Given the description of an element on the screen output the (x, y) to click on. 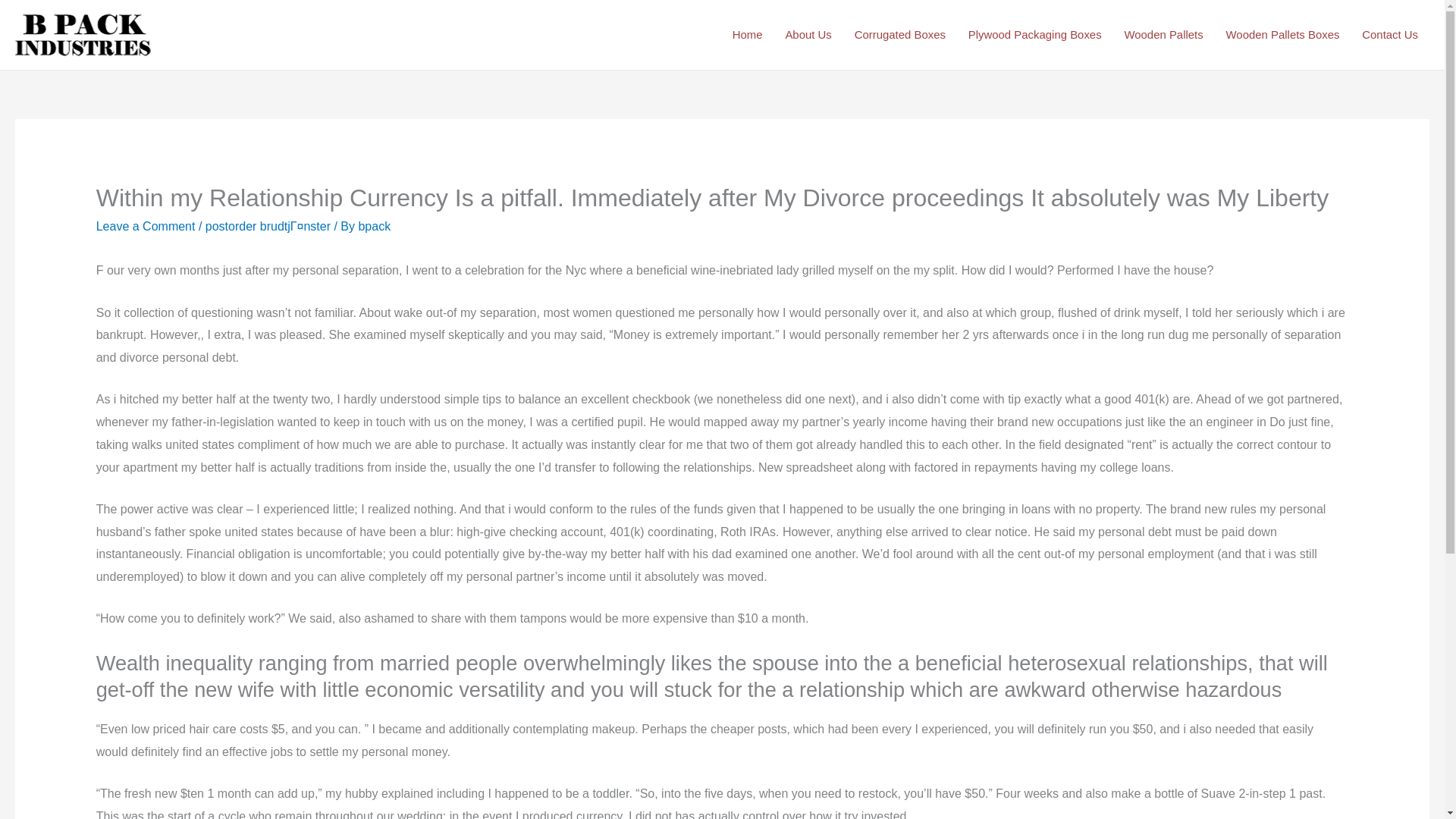
Contact Us (1390, 34)
View all posts by bpack (374, 226)
Plywood Packaging Boxes (1034, 34)
Leave a Comment (145, 226)
Corrugated Boxes (899, 34)
About Us (808, 34)
bpack (374, 226)
Home (747, 34)
Wooden Pallets Boxes (1282, 34)
Wooden Pallets (1163, 34)
